Given the description of an element on the screen output the (x, y) to click on. 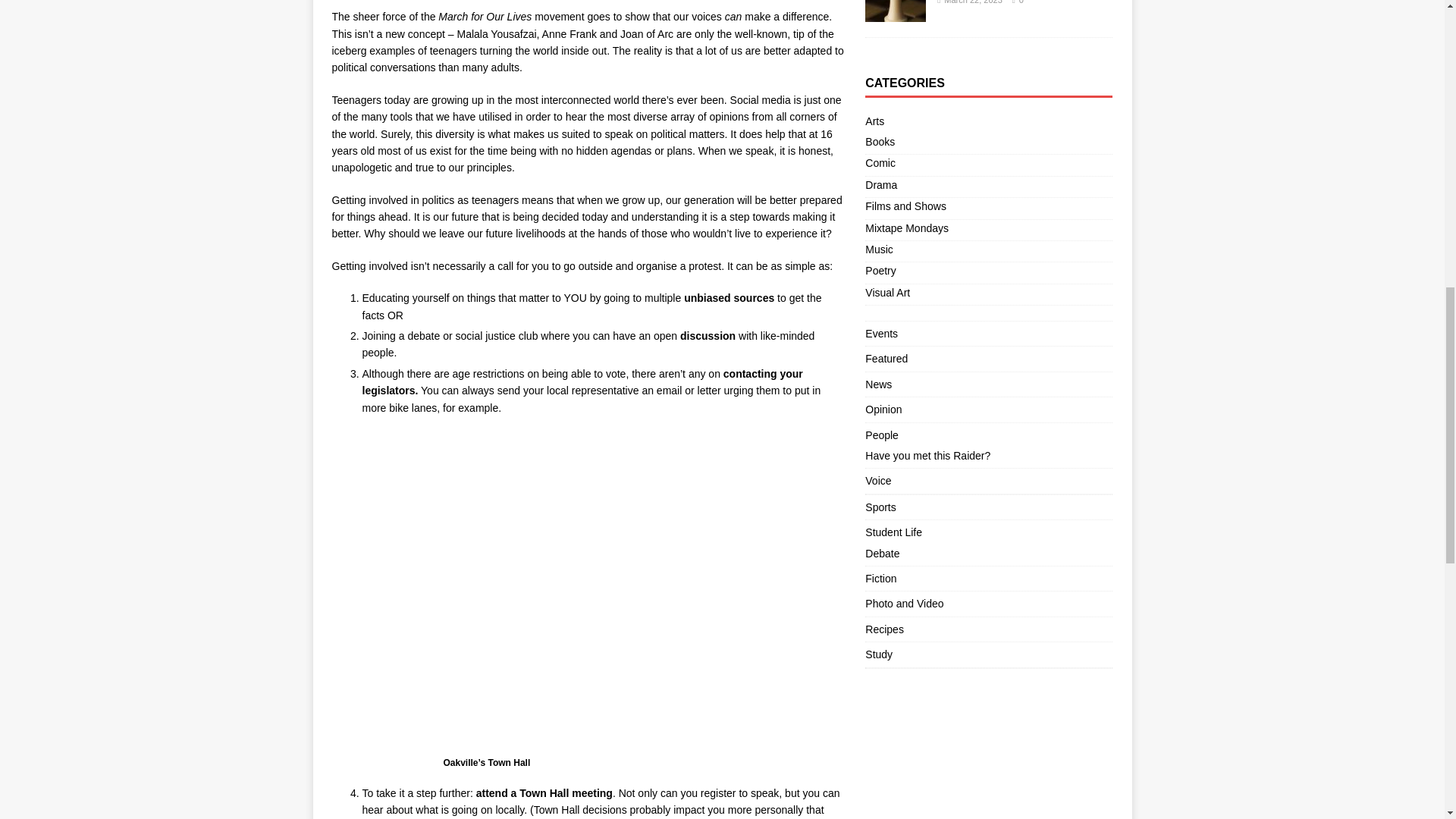
A Board Missing Queens (895, 12)
